Given the description of an element on the screen output the (x, y) to click on. 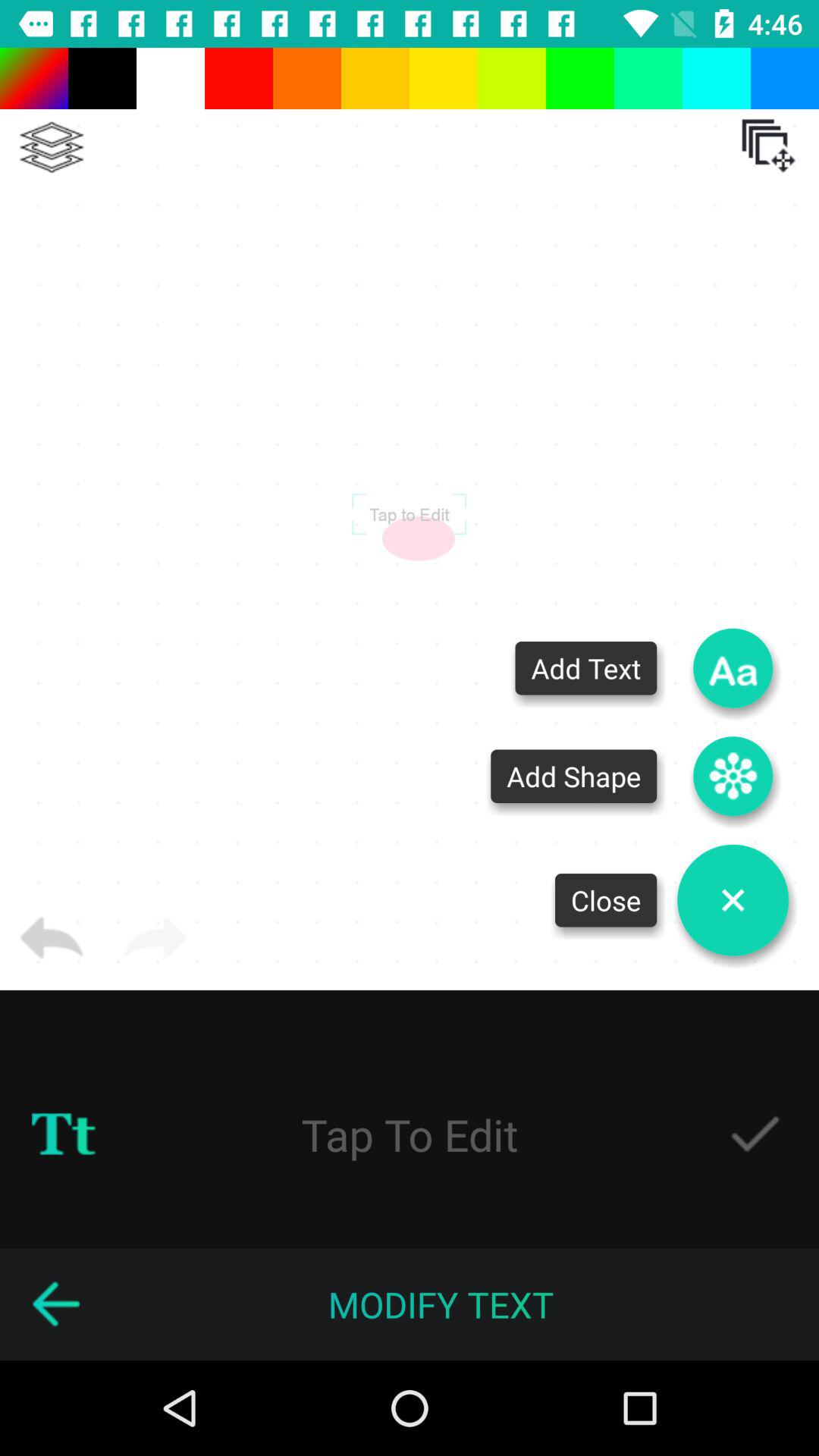
mark as selected (755, 1134)
